Given the description of an element on the screen output the (x, y) to click on. 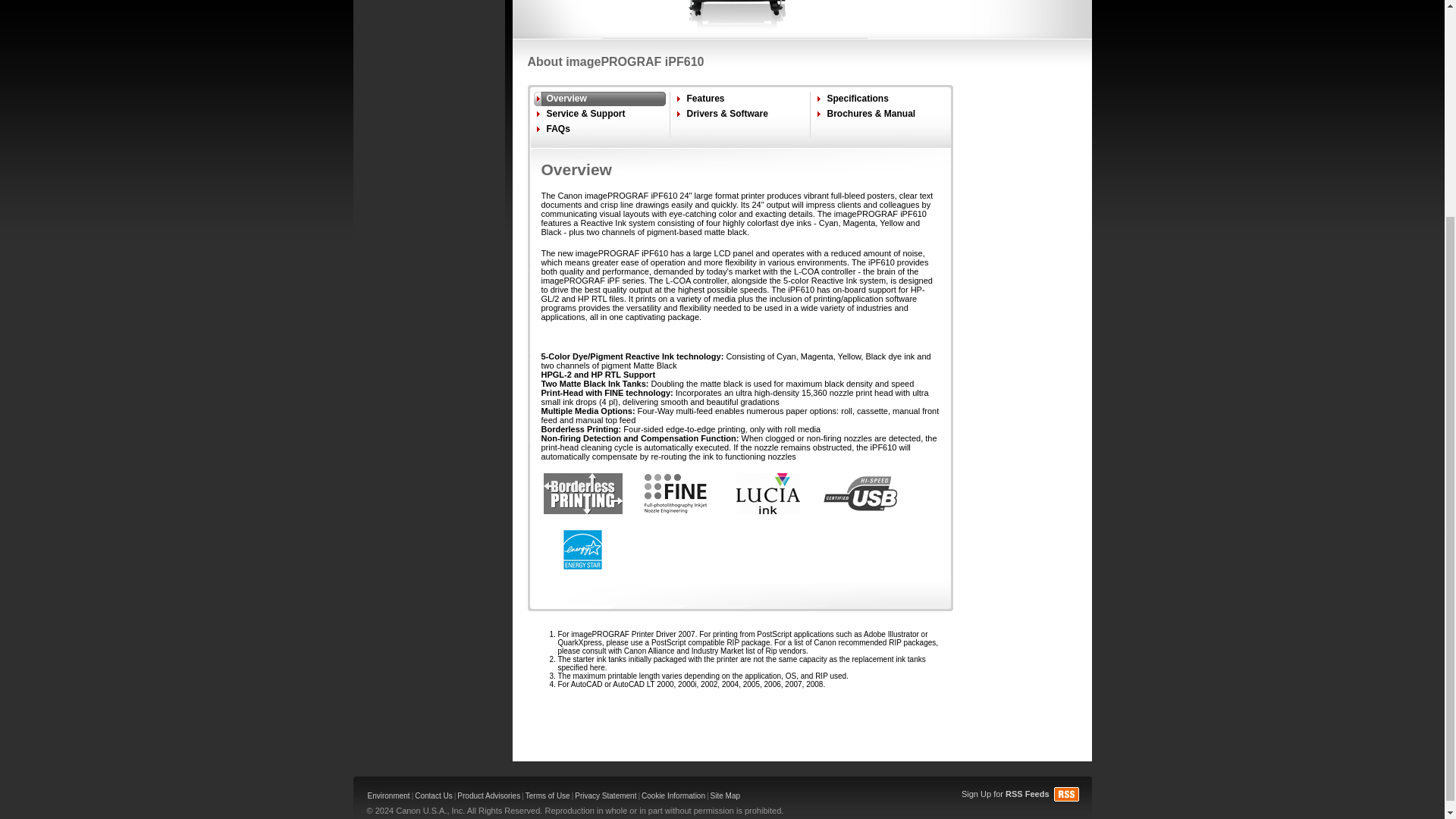
Environment (387, 795)
Terms of Use (547, 795)
Energy Star (582, 549)
Product Advisories (488, 795)
Privacy Statement (605, 795)
Site Map (724, 795)
Cookie Information (673, 795)
Contact Us (432, 795)
Certified USB Hi-Speed : Certified Hi-Speed USB (860, 493)
